Given the description of an element on the screen output the (x, y) to click on. 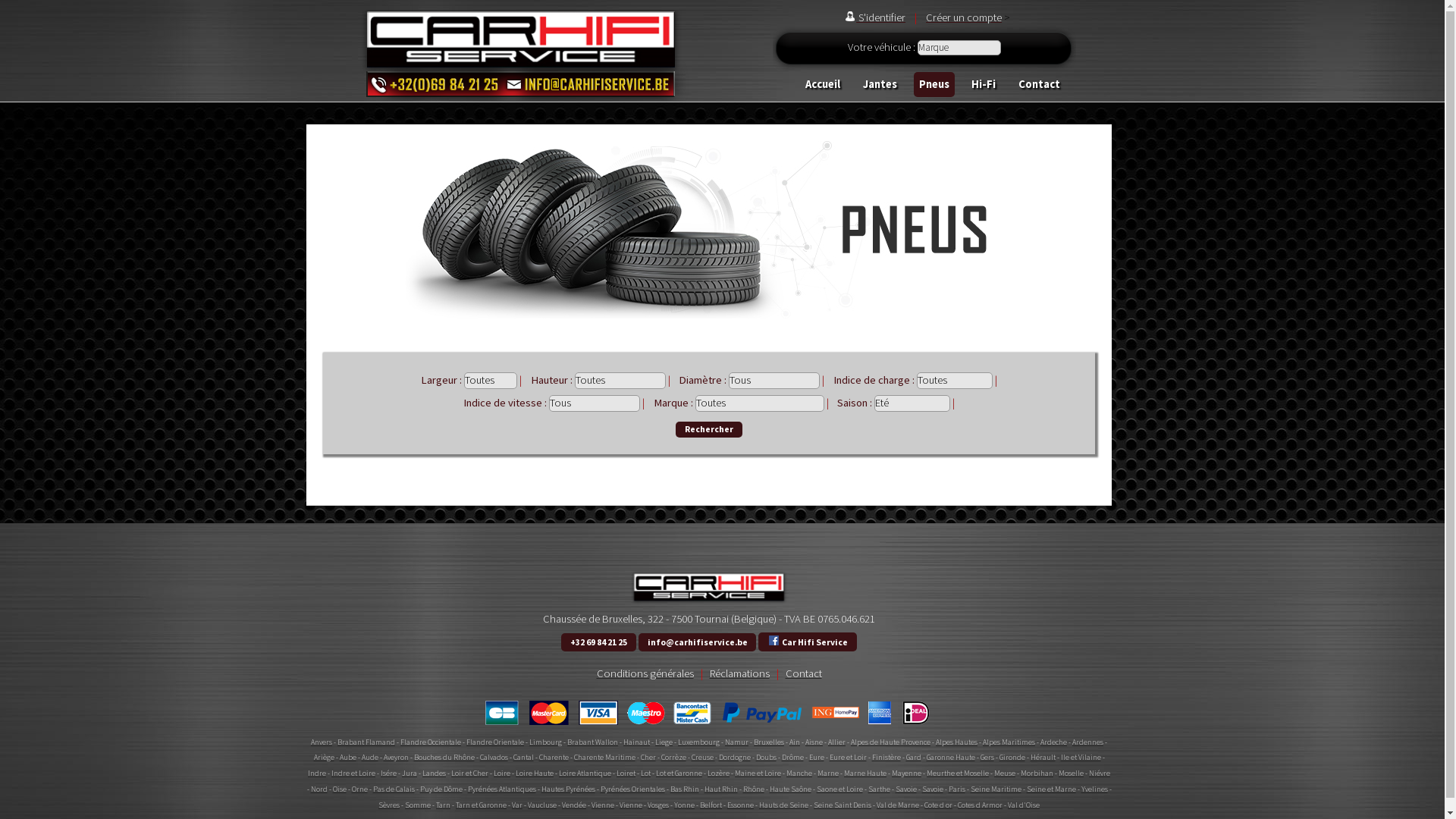
Val de Marne Element type: text (897, 804)
Pas de Calais Element type: text (393, 788)
Garonne Haute Element type: text (950, 757)
Oise Element type: text (338, 788)
Hauts de Seine Element type: text (783, 804)
Eure et Loir Element type: text (847, 757)
Savoie Element type: text (932, 788)
Anvers Element type: text (321, 741)
Landes Element type: text (433, 773)
Cantal Element type: text (522, 757)
Pneus Element type: text (934, 84)
Manche Element type: text (799, 773)
Bruxelles Element type: text (768, 741)
Lot et Garonne Element type: text (678, 773)
Indre Element type: text (316, 773)
Cote d or Element type: text (938, 804)
Vienne Element type: text (630, 804)
Contact Element type: text (803, 673)
Limbourg Element type: text (545, 741)
Nord Element type: text (318, 788)
Loire Element type: text (501, 773)
Seine Maritime Element type: text (995, 788)
Aude Element type: text (368, 757)
Contact Element type: text (1039, 84)
Belfort Element type: text (710, 804)
Savoie Element type: text (905, 788)
Aube Element type: text (347, 757)
Ardeche Element type: text (1053, 741)
Loire Haute Element type: text (534, 773)
Accueil Element type: text (823, 84)
Liege Element type: text (663, 741)
Ain Element type: text (794, 741)
Yonne Element type: text (684, 804)
Aveyron Element type: text (395, 757)
Charente Element type: text (552, 757)
Car Hifi Service Element type: text (807, 641)
Bas Rhin Element type: text (684, 788)
Ile et Vilaine Element type: text (1080, 757)
Gers Element type: text (986, 757)
Var Element type: text (516, 804)
Flandre Occientale Element type: text (430, 741)
Calvados Element type: text (493, 757)
Saone et Loire Element type: text (838, 788)
Hainaut Element type: text (636, 741)
Seine Saint Denis Element type: text (842, 804)
Haut Rhin Element type: text (720, 788)
S'identifier Element type: text (874, 17)
Vienne Element type: text (602, 804)
Flandre Orientale Element type: text (495, 741)
Meurthe et Moselle Element type: text (957, 773)
info@carhifiservice.be Element type: text (697, 642)
Indre et Loire Element type: text (353, 773)
Essonne Element type: text (740, 804)
Brabant Wallon Element type: text (592, 741)
Marne Haute Element type: text (865, 773)
Vosges Element type: text (657, 804)
Seine et Marne Element type: text (1051, 788)
Maine et Loire Element type: text (757, 773)
Loir et Cher Element type: text (469, 773)
Charente Maritime Element type: text (603, 757)
Eure Element type: text (815, 757)
Ardennes Element type: text (1087, 741)
Alpes de Haute Provence Element type: text (890, 741)
Doubs Element type: text (765, 757)
+32 69 84 21 25 Element type: text (598, 642)
Dordogne Element type: text (734, 757)
Cher Element type: text (647, 757)
Alpes Maritimes Element type: text (1008, 741)
Moselle Element type: text (1070, 773)
Jantes Element type: text (879, 84)
Meuse Element type: text (1004, 773)
Somme Element type: text (417, 804)
Loire Atlantique Element type: text (584, 773)
Vaucluse Element type: text (541, 804)
Paris Element type: text (955, 788)
Sarthe Element type: text (878, 788)
Jura Element type: text (409, 773)
Tarn et Garonne Element type: text (480, 804)
Allier Element type: text (836, 741)
Alpes Hautes Element type: text (956, 741)
Creuse Element type: text (703, 757)
Namur Element type: text (736, 741)
Aisne Element type: text (813, 741)
Cotes d Armor Element type: text (979, 804)
Loiret Element type: text (625, 773)
Morbihan Element type: text (1036, 773)
Tarn Element type: text (443, 804)
Orne Element type: text (359, 788)
Marne Element type: text (827, 773)
Mayenne Element type: text (906, 773)
Val d'Oise Element type: text (1023, 804)
Gard Element type: text (912, 757)
Brabant Flamand Element type: text (366, 741)
Rechercher Element type: text (708, 429)
Gironde Element type: text (1012, 757)
Hi-Fi Element type: text (983, 84)
Lot Element type: text (645, 773)
Yvelines Element type: text (1094, 788)
Luxembourg Element type: text (698, 741)
